Given the description of an element on the screen output the (x, y) to click on. 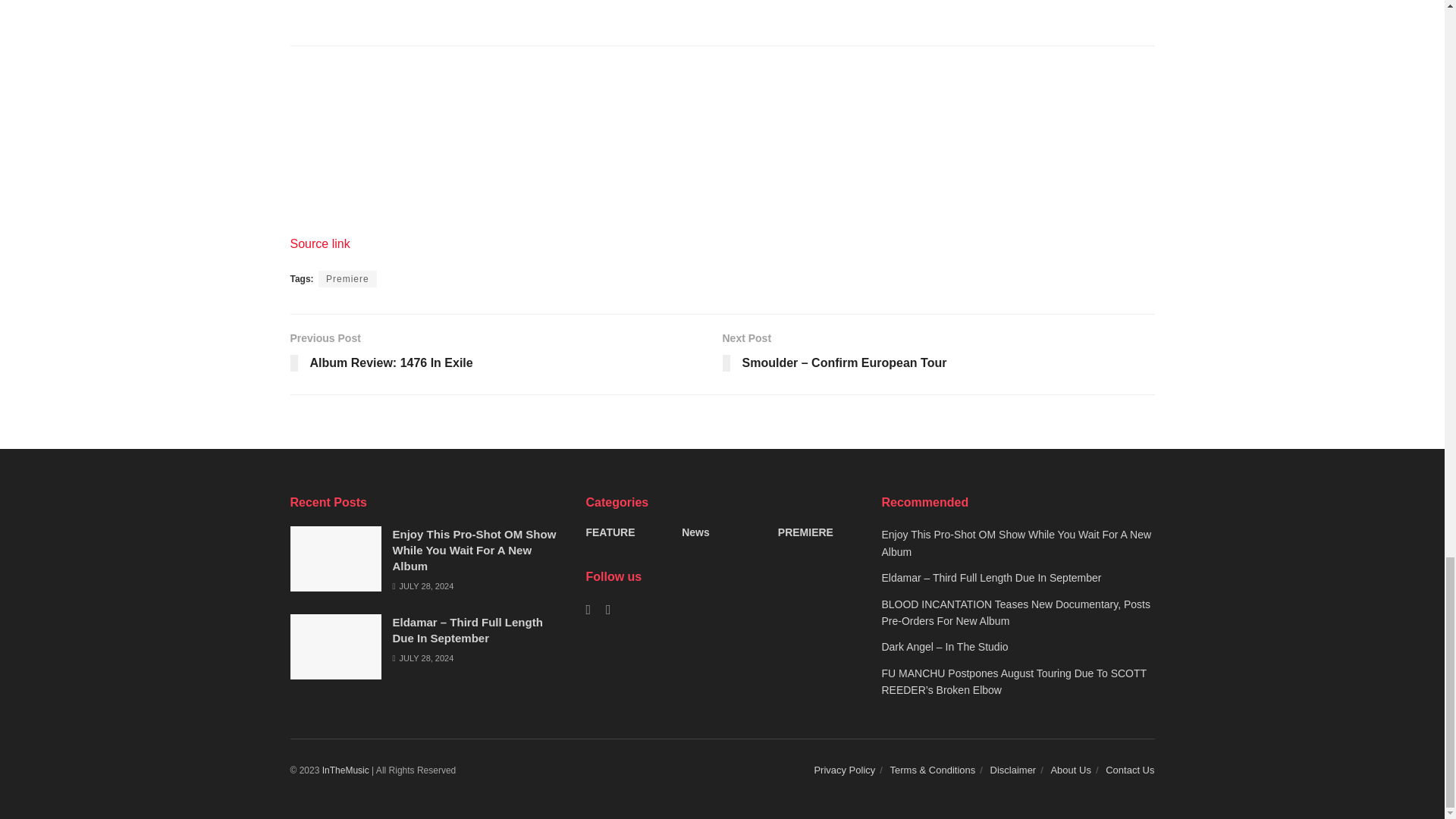
Premium news  (345, 769)
Premiere (347, 279)
PREMIERE (804, 532)
Source link (319, 243)
News (505, 354)
Enjoy This Pro-Shot OM Show While You Wait For A New Album (695, 532)
FEATURE (474, 549)
